Given the description of an element on the screen output the (x, y) to click on. 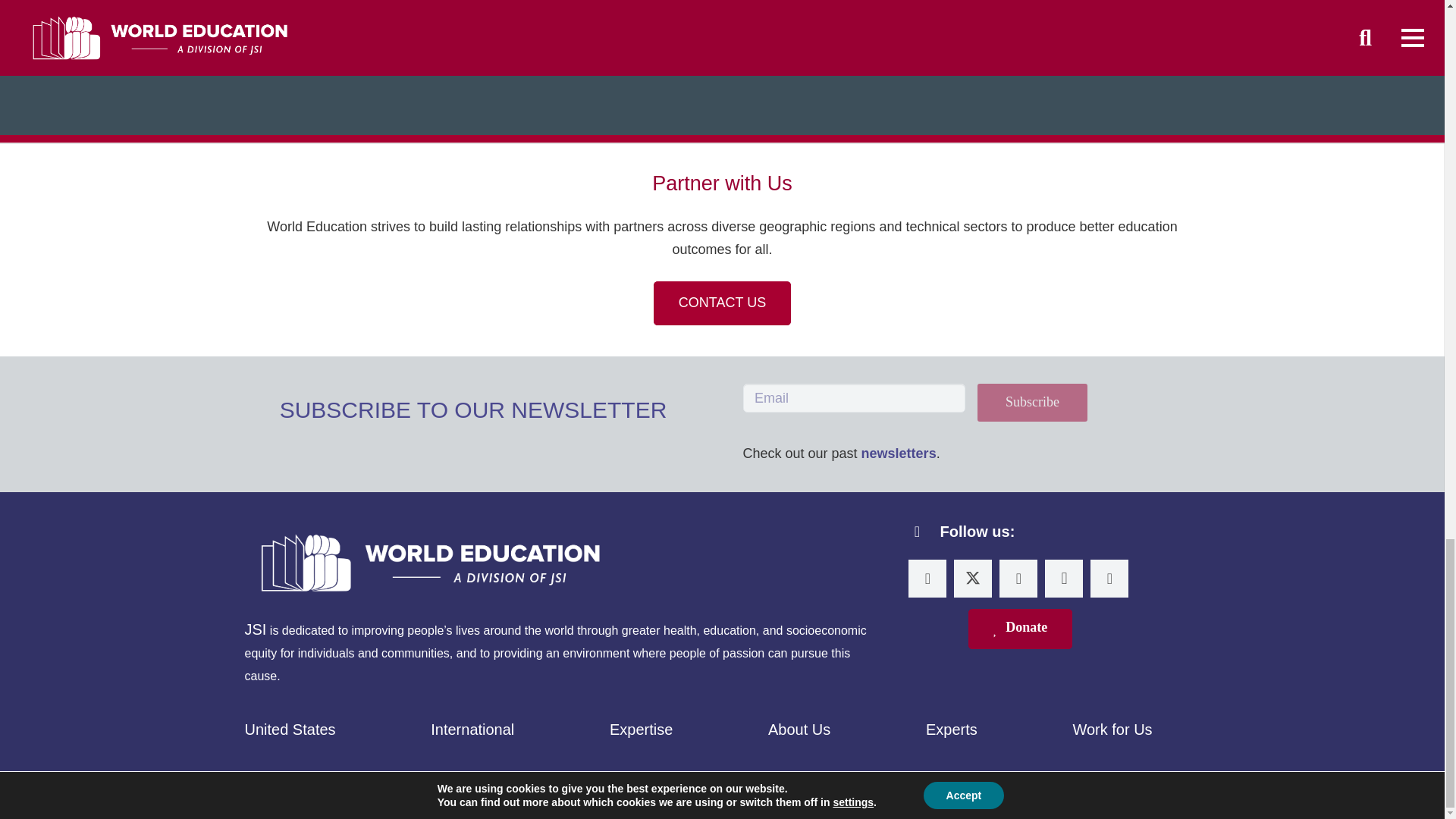
LinkedIn (927, 578)
Twitter (972, 578)
Subscribe (1031, 402)
YouTube (1109, 578)
Facebook (1017, 578)
Instagram (1064, 578)
Contact Us (721, 303)
